Given the description of an element on the screen output the (x, y) to click on. 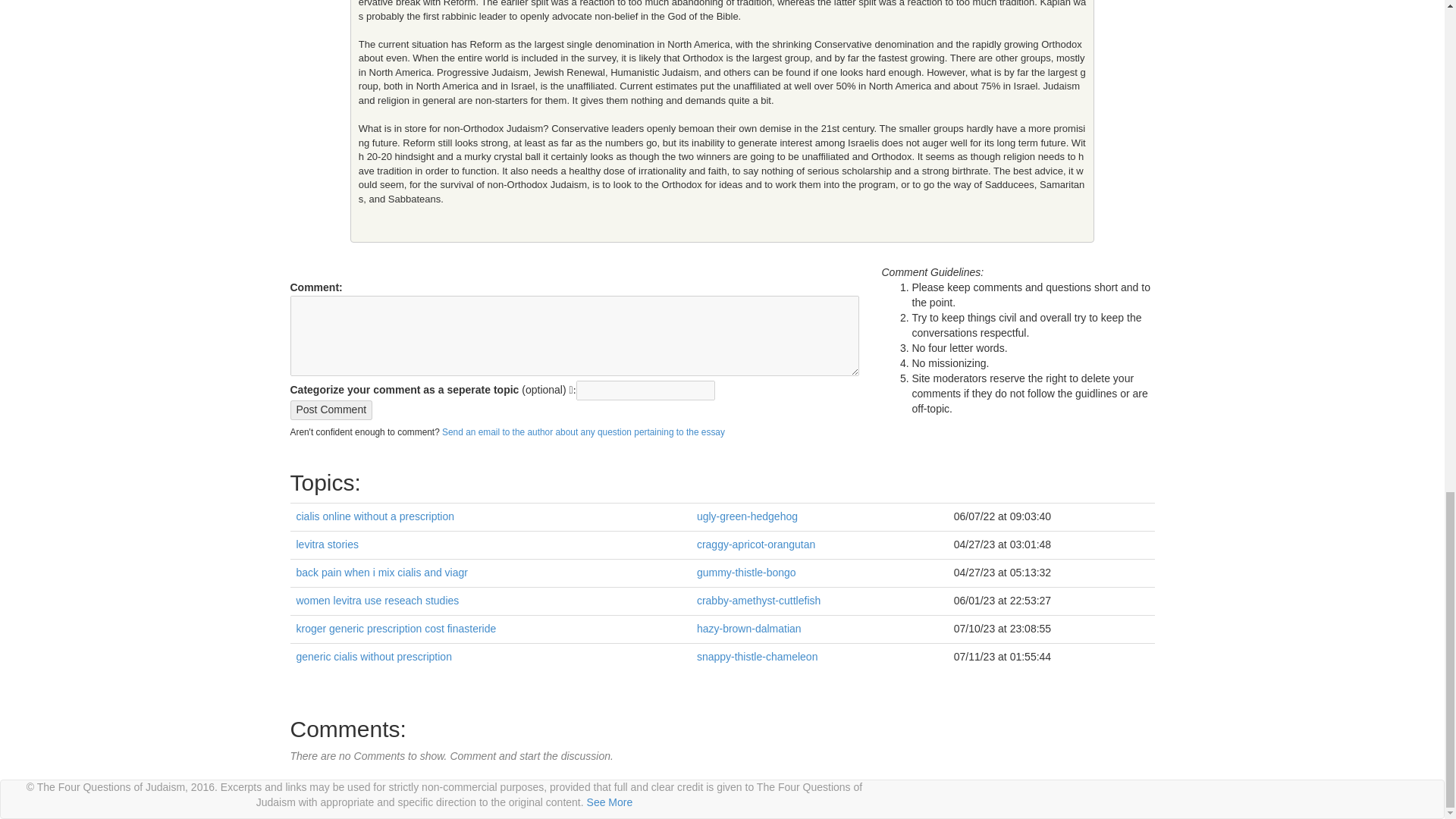
snappy-thistle-chameleon (757, 656)
kroger generic prescription cost finasteride (395, 628)
gummy-thistle-bongo (746, 572)
back pain when i mix cialis and viagr (381, 572)
ugly-green-hedgehog (747, 516)
generic cialis without prescription (373, 656)
craggy-apricot-orangutan (756, 544)
women levitra use reseach studies (376, 600)
cialis online without a prescription (374, 516)
Post Comment (330, 410)
crabby-amethyst-cuttlefish (759, 600)
See More (609, 802)
levitra stories (326, 544)
hazy-brown-dalmatian (749, 628)
